Given the description of an element on the screen output the (x, y) to click on. 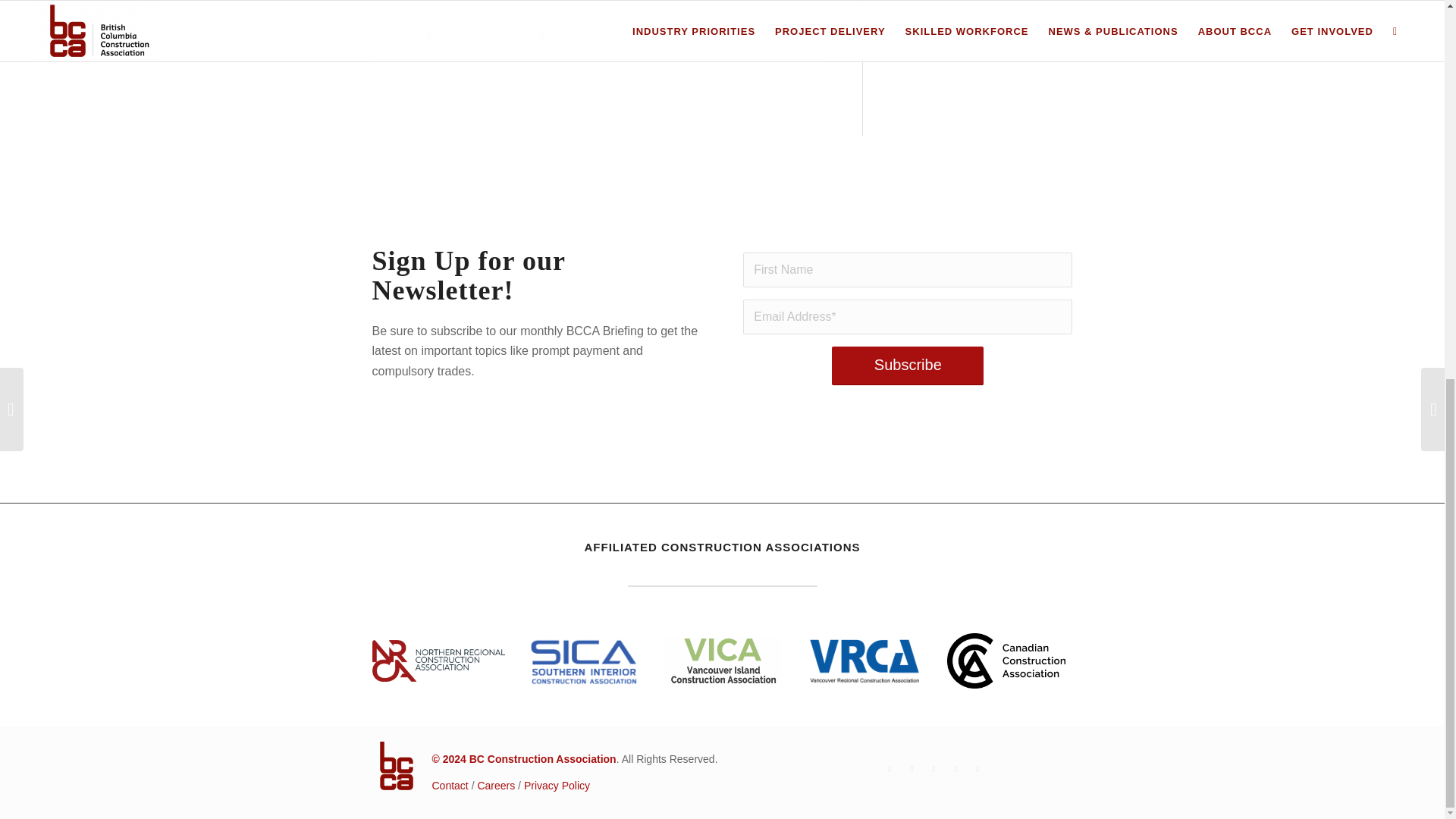
Subscribe (907, 365)
VRCA-Logo-RGB vertical (864, 660)
